Given the description of an element on the screen output the (x, y) to click on. 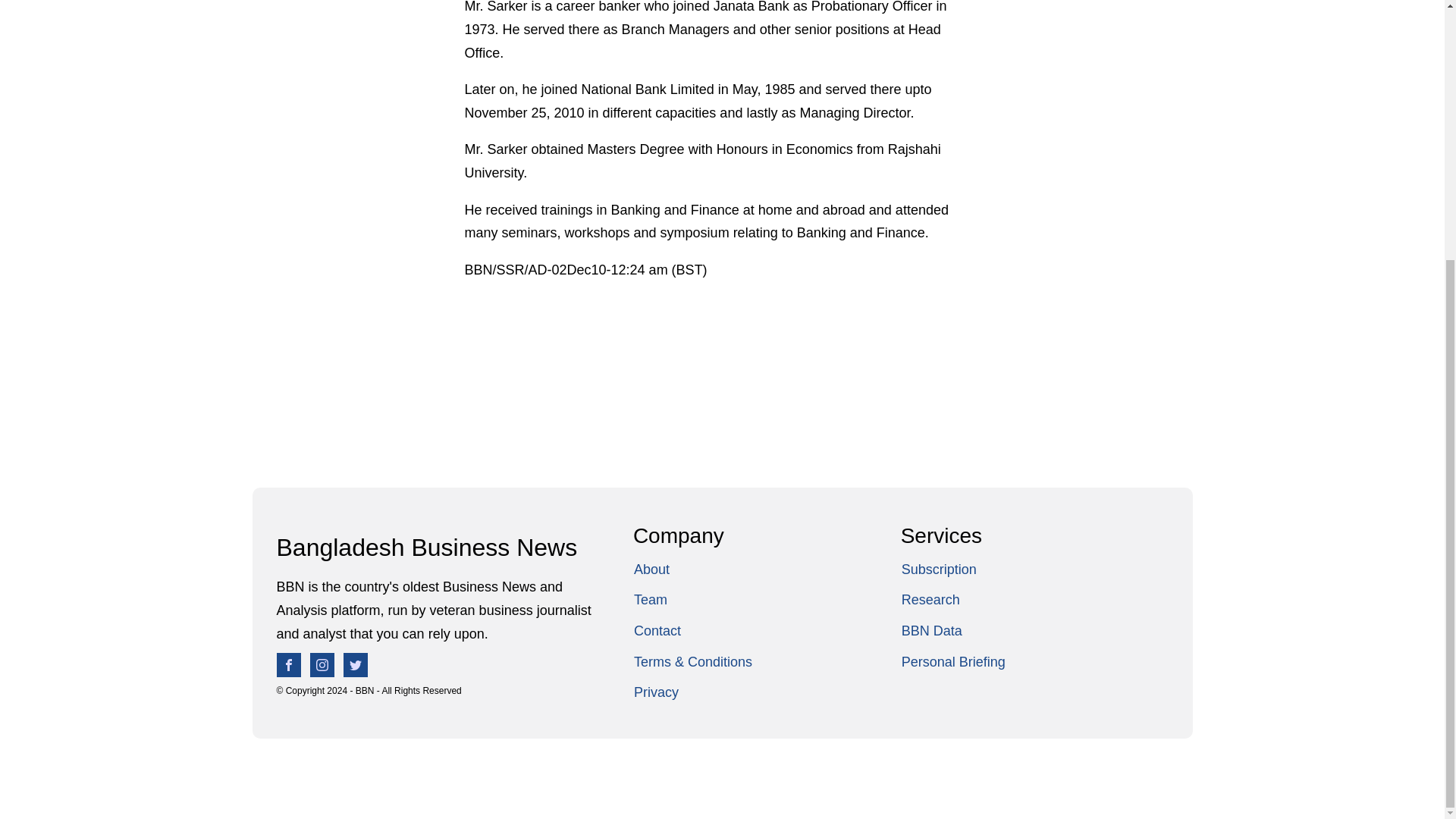
Subscription (953, 569)
About (692, 569)
Team (692, 599)
Research (953, 599)
Contact (692, 631)
Personal Briefing (953, 662)
Privacy (692, 692)
BBN Data (953, 631)
